Given the description of an element on the screen output the (x, y) to click on. 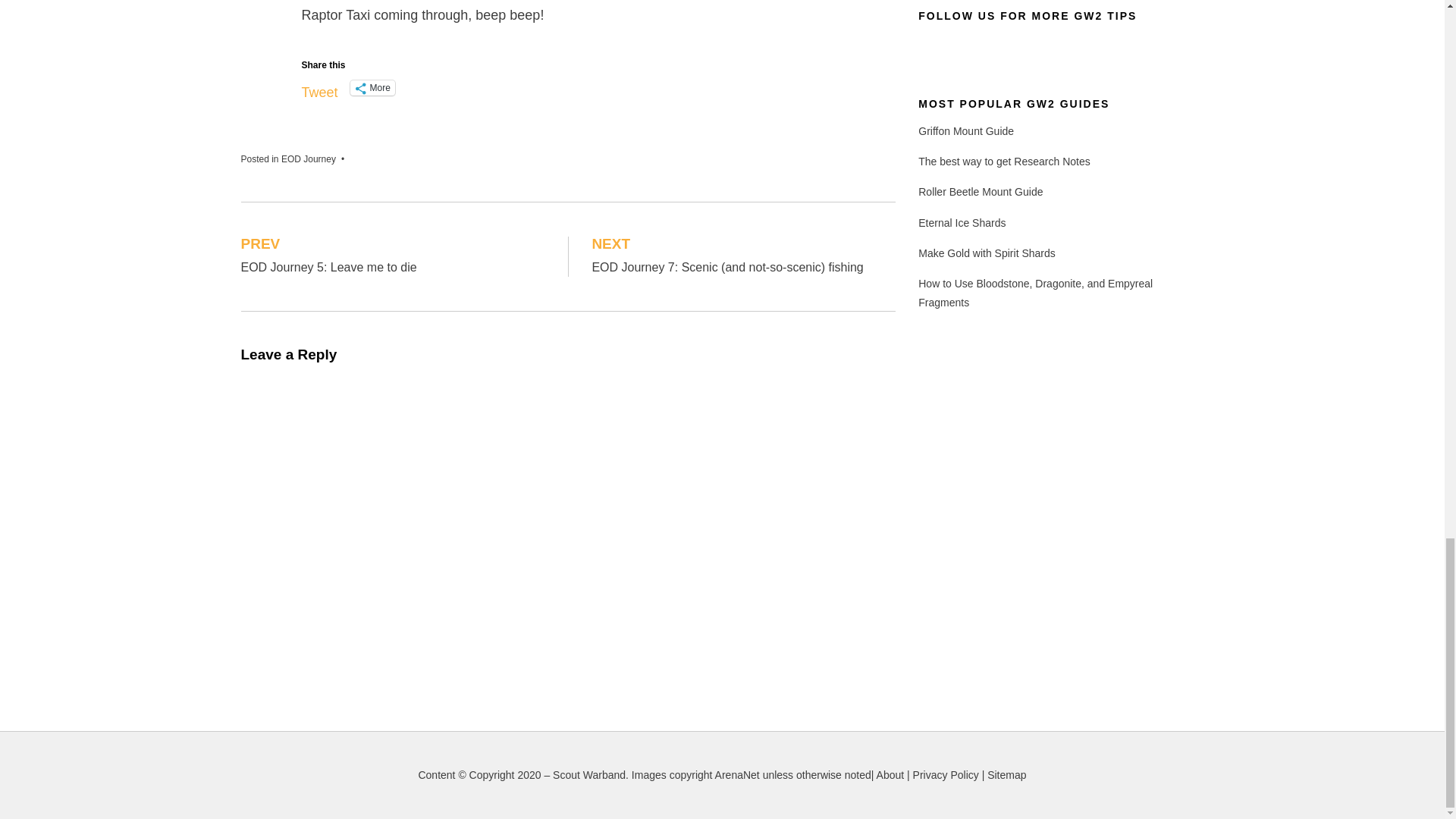
Magazine WordPress Themes (301, 796)
